Given the description of an element on the screen output the (x, y) to click on. 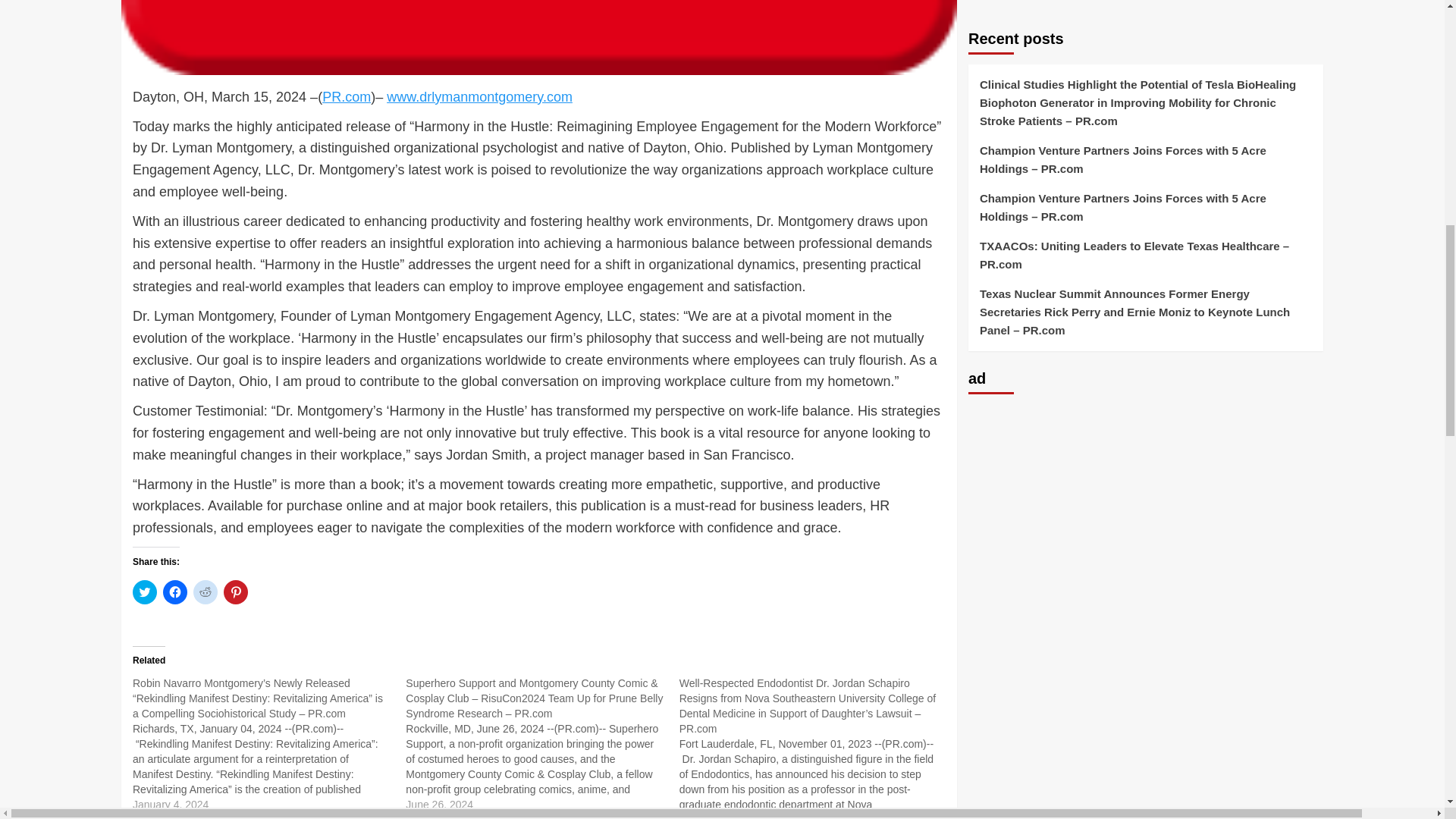
PR.com (346, 96)
Click to share on Twitter (144, 591)
Click to share on Pinterest (235, 591)
Click to share on Reddit (204, 591)
www.drlymanmontgomery.com (479, 96)
Click to share on Facebook (175, 591)
